Given the description of an element on the screen output the (x, y) to click on. 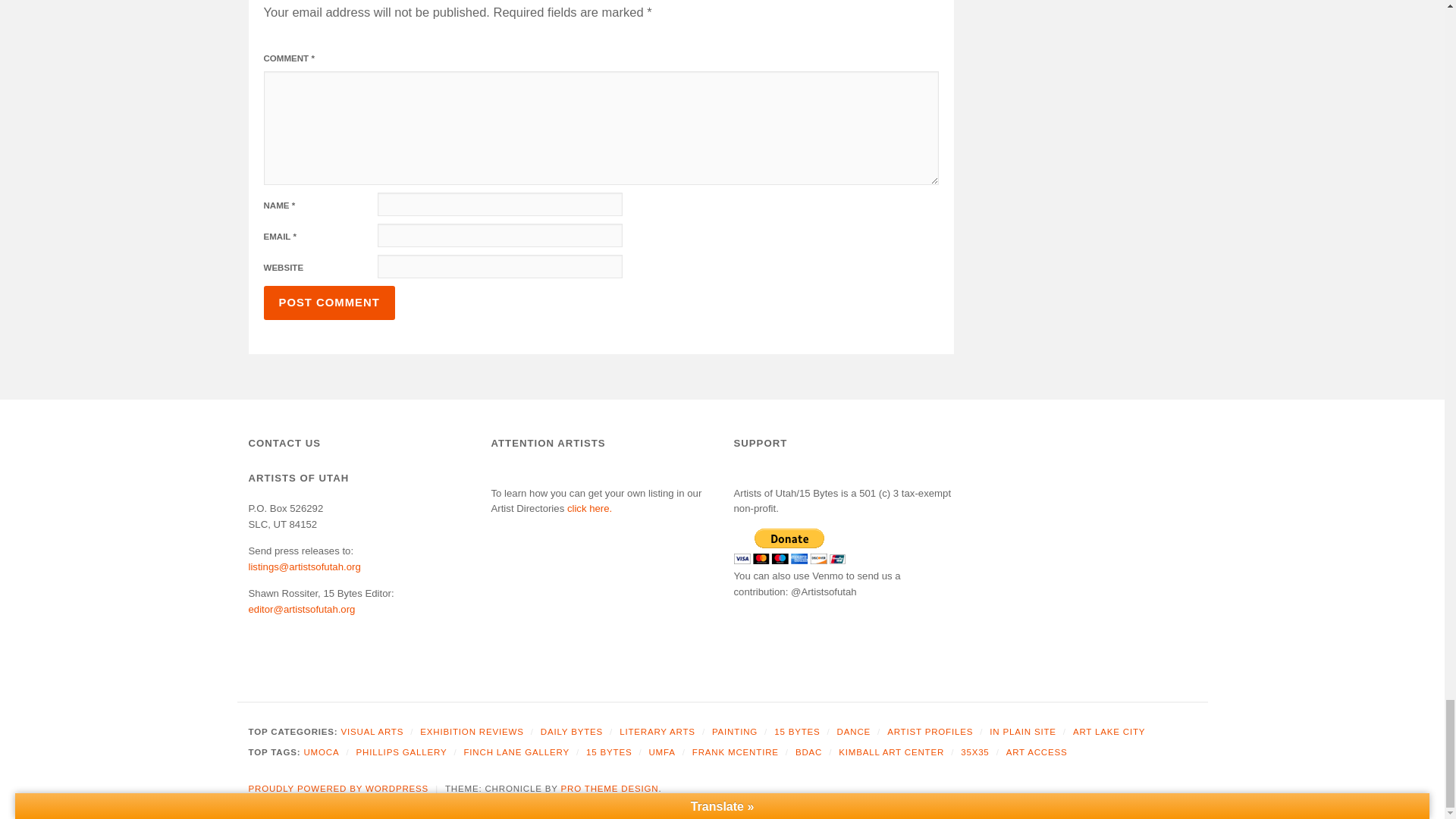
Post Comment (328, 302)
A Semantic Personal Publishing Platform (338, 788)
